Given the description of an element on the screen output the (x, y) to click on. 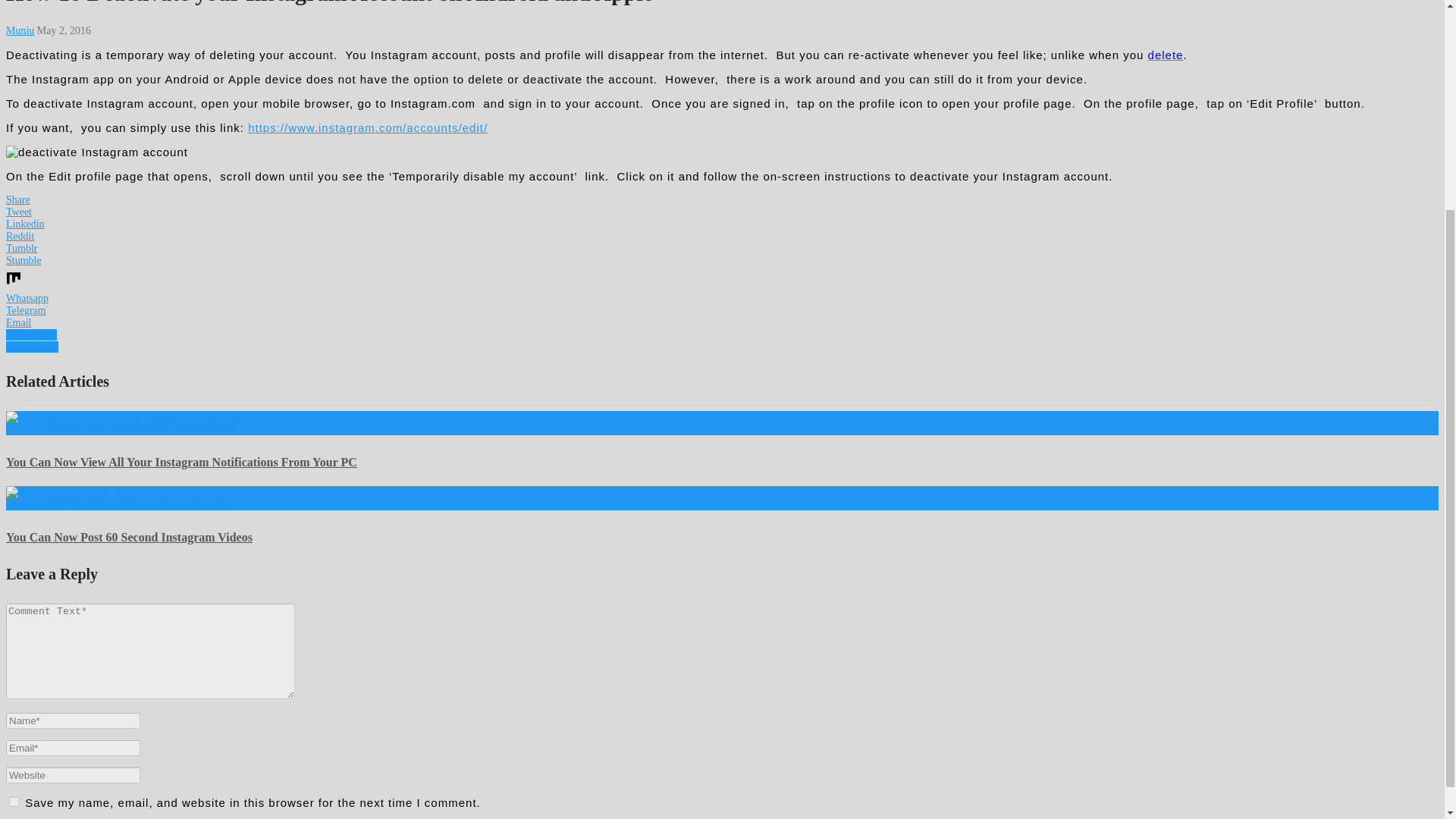
delete (1165, 54)
Posts by Muniu (19, 30)
Prev Article (30, 334)
Next Article (31, 346)
You Can Now Post 60 Second Instagram Videos (128, 536)
Muniu (19, 30)
yes (13, 801)
You Can Now Post 60 Second Instagram Videos (128, 536)
